Given the description of an element on the screen output the (x, y) to click on. 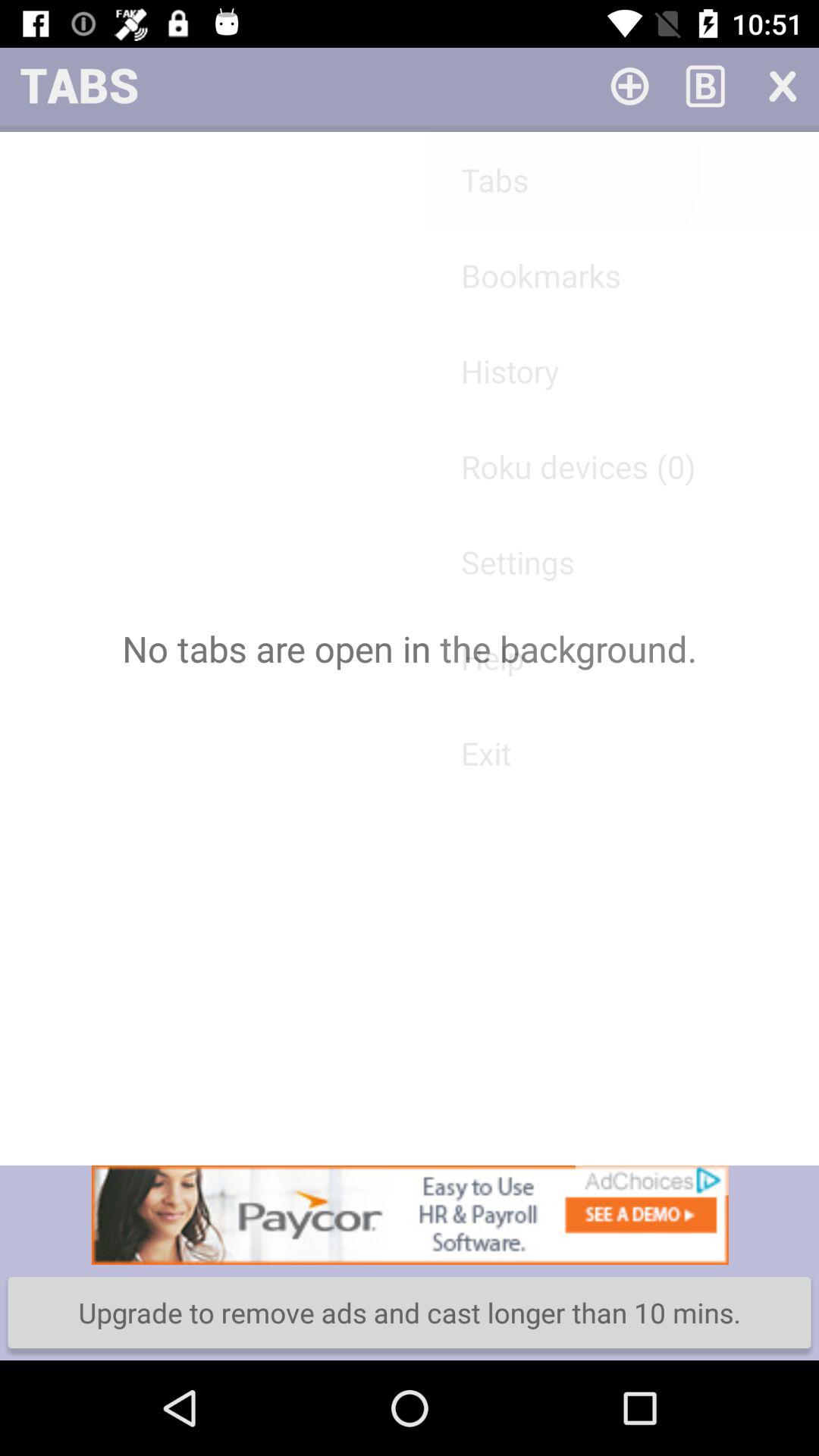
add roku device (629, 85)
